Given the description of an element on the screen output the (x, y) to click on. 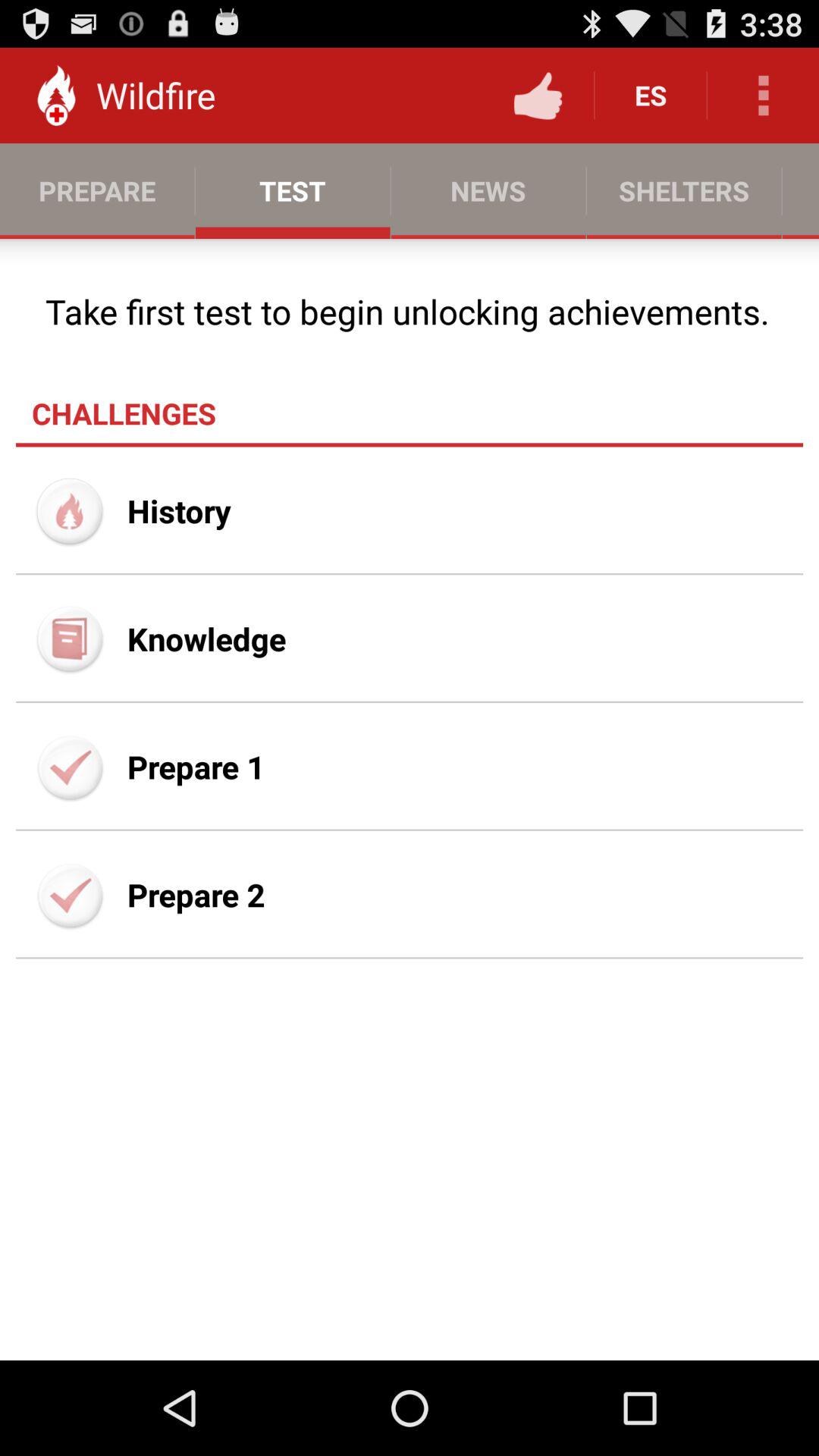
turn off the item to the right of es (763, 95)
